Given the description of an element on the screen output the (x, y) to click on. 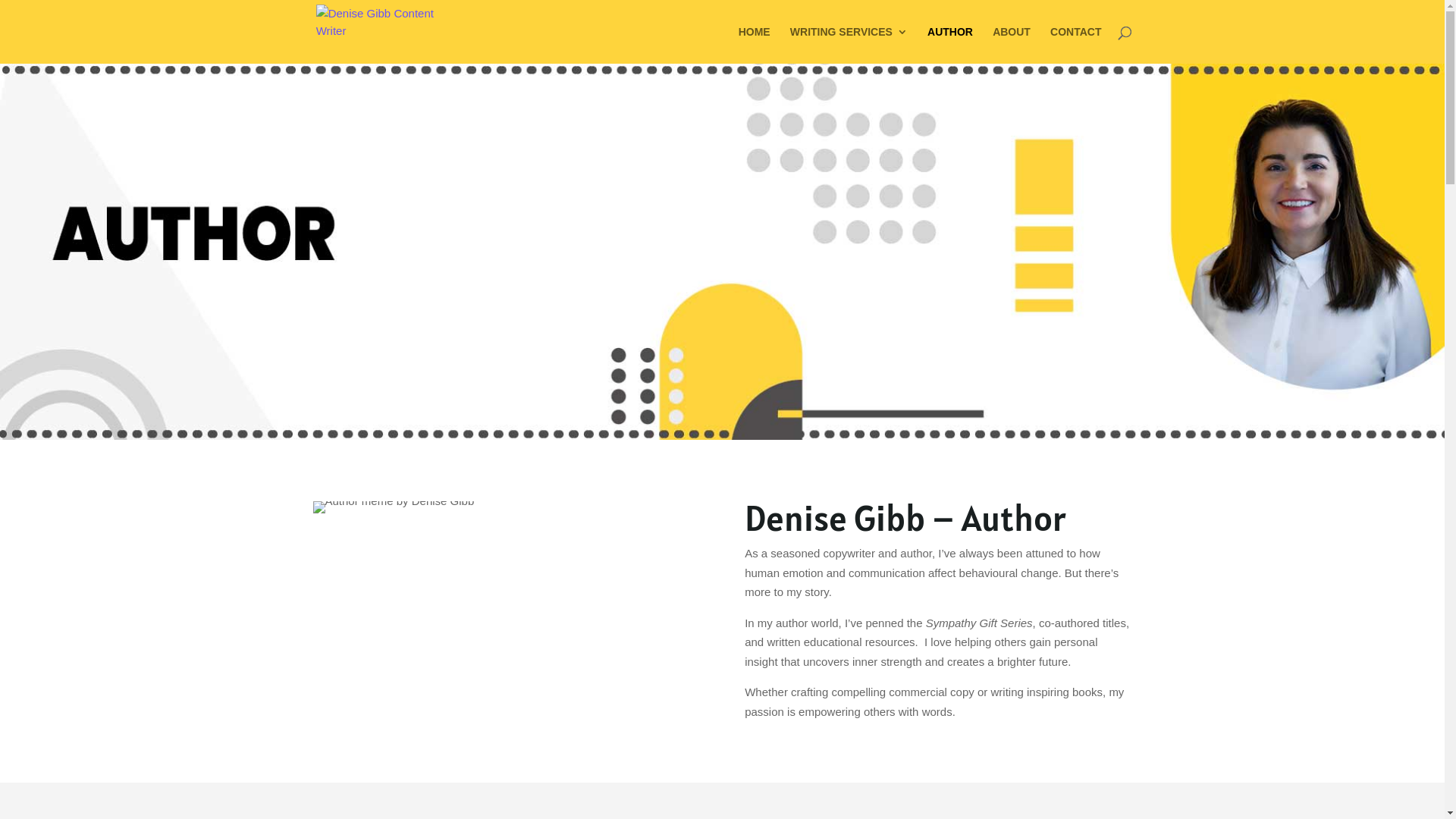
WRITING SERVICES Element type: text (848, 44)
AUTHOR4-grey-400x400 Element type: hover (392, 507)
HOME Element type: text (754, 44)
AUTHOR Element type: text (949, 44)
ABOUT Element type: text (1011, 44)
1-DG-AUTHOR-BANNER Element type: hover (722, 251)
CONTACT Element type: text (1075, 44)
